Given the description of an element on the screen output the (x, y) to click on. 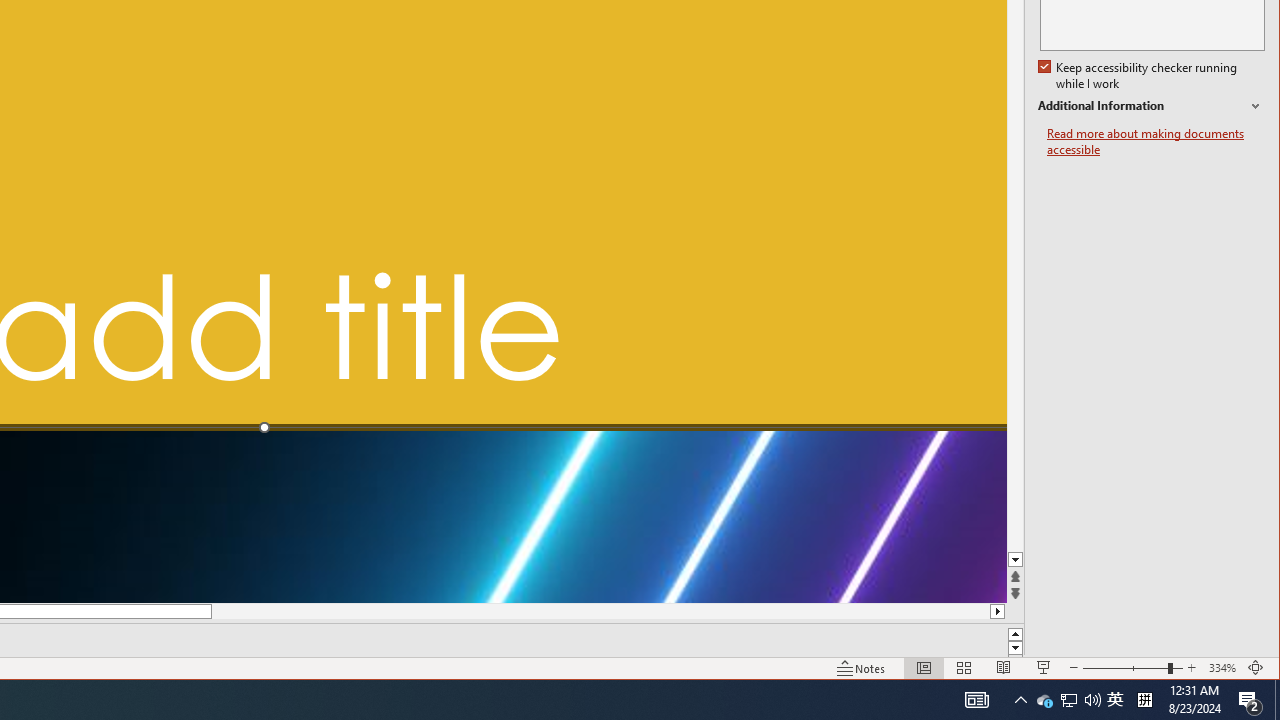
Additional Information (1151, 106)
Notification Chevron (1044, 699)
Keep accessibility checker running while I work (1020, 699)
Read more about making documents accessible (1139, 76)
AutomationID: 4105 (1155, 142)
